Given the description of an element on the screen output the (x, y) to click on. 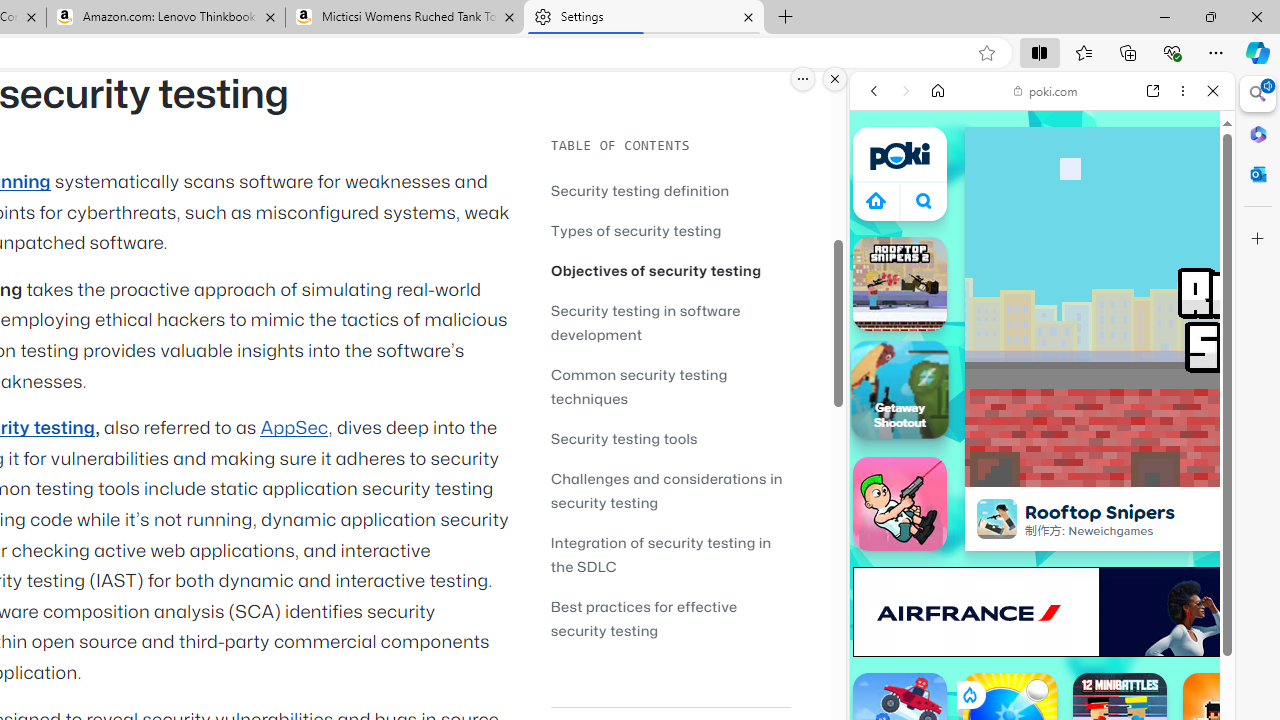
Objectives of security testing (655, 270)
Rooftop Snipers 2 (899, 283)
Show More Io Games (1164, 619)
Io Games (1042, 616)
Getaway Shootout Getaway Shootout (899, 389)
Show More Car Games (1164, 472)
Shooting Games (1042, 518)
poki.com (1046, 90)
Common security testing techniques (670, 386)
Class: aprWdaSScyiJf4Jvmsx9 (875, 200)
Poki (1034, 288)
